Given the description of an element on the screen output the (x, y) to click on. 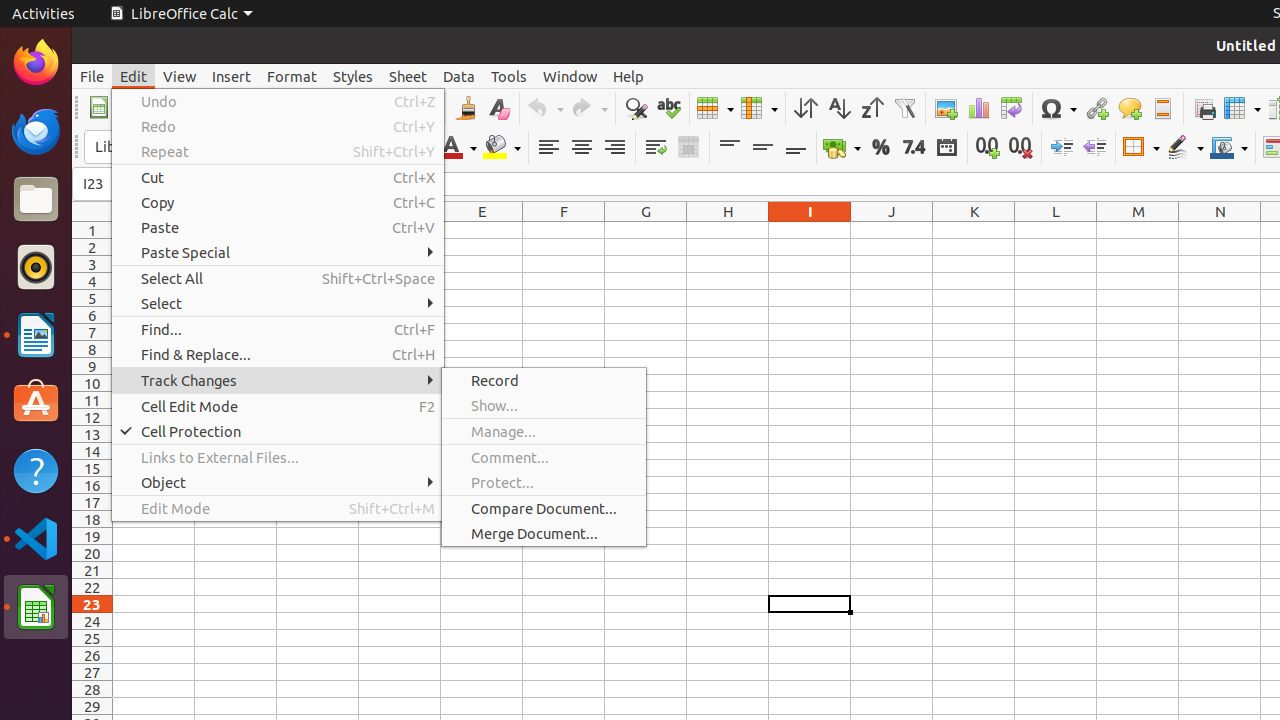
F1 Element type: table-cell (564, 230)
Align Top Element type: push-button (729, 147)
Paste Element type: menu-item (278, 227)
Date Element type: push-button (946, 147)
